Given the description of an element on the screen output the (x, y) to click on. 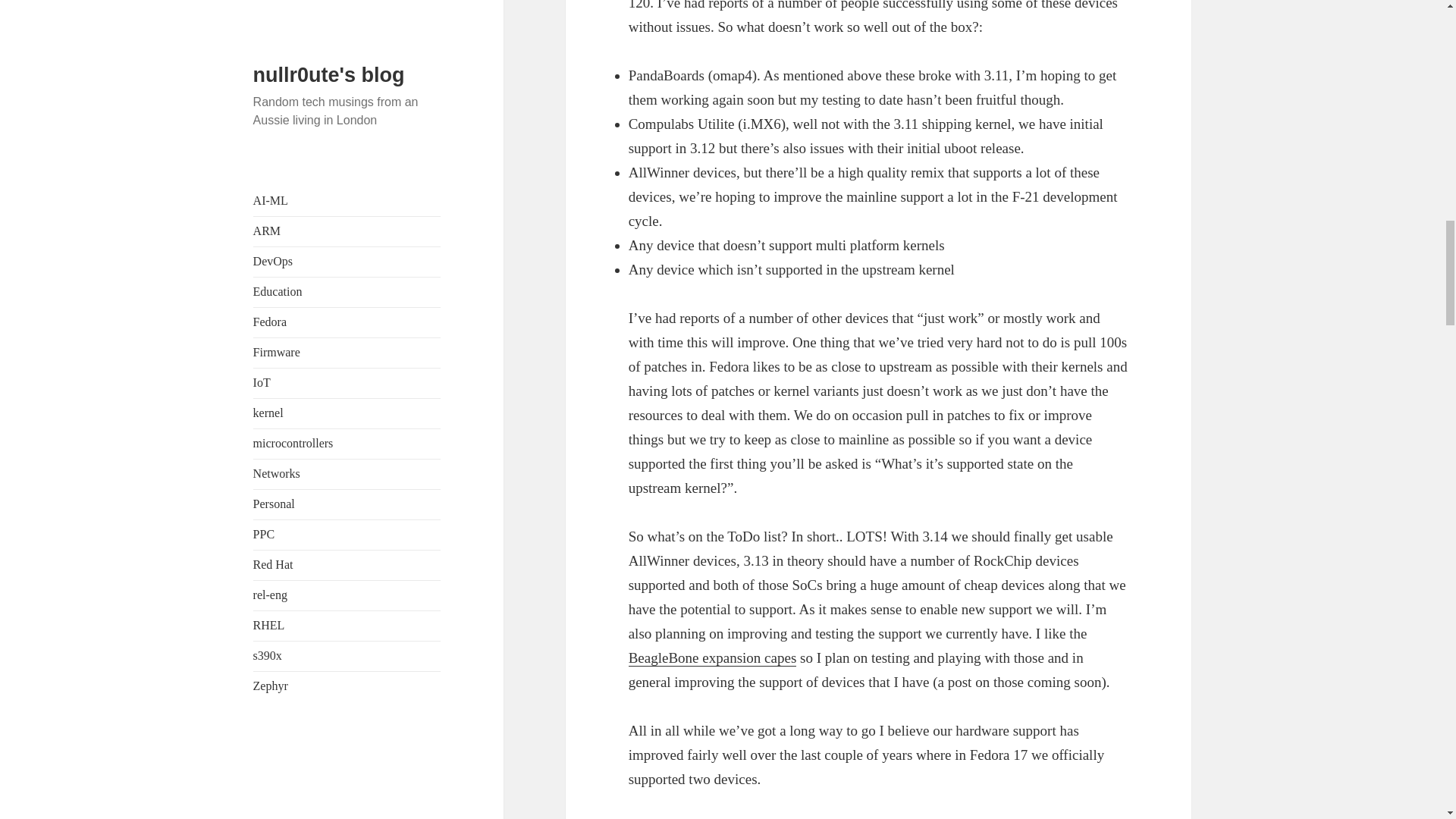
BeagleBone expansion capes (712, 658)
